Given the description of an element on the screen output the (x, y) to click on. 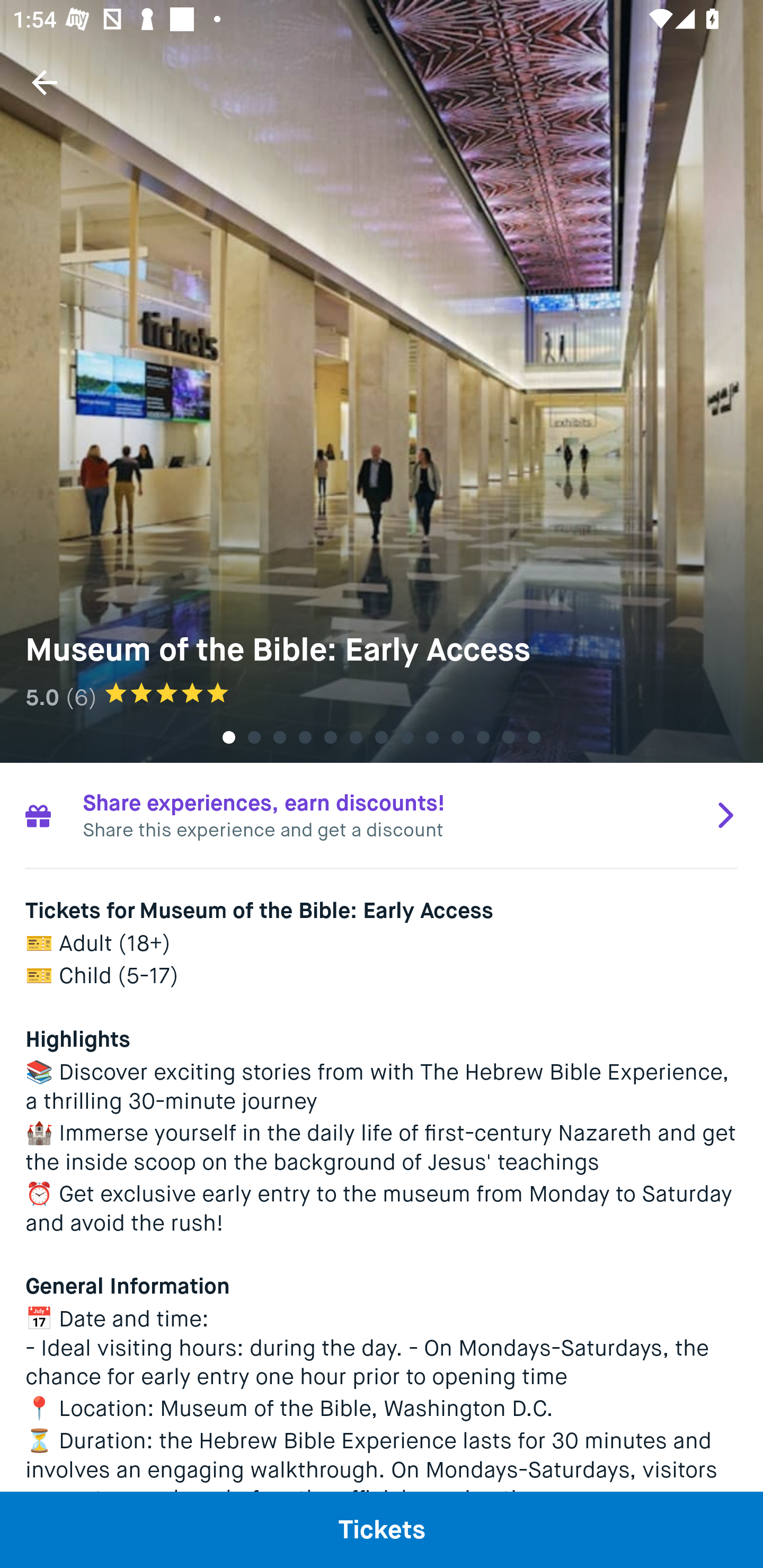
Navigate up (44, 82)
(6) (80, 697)
Tickets (381, 1529)
